Given the description of an element on the screen output the (x, y) to click on. 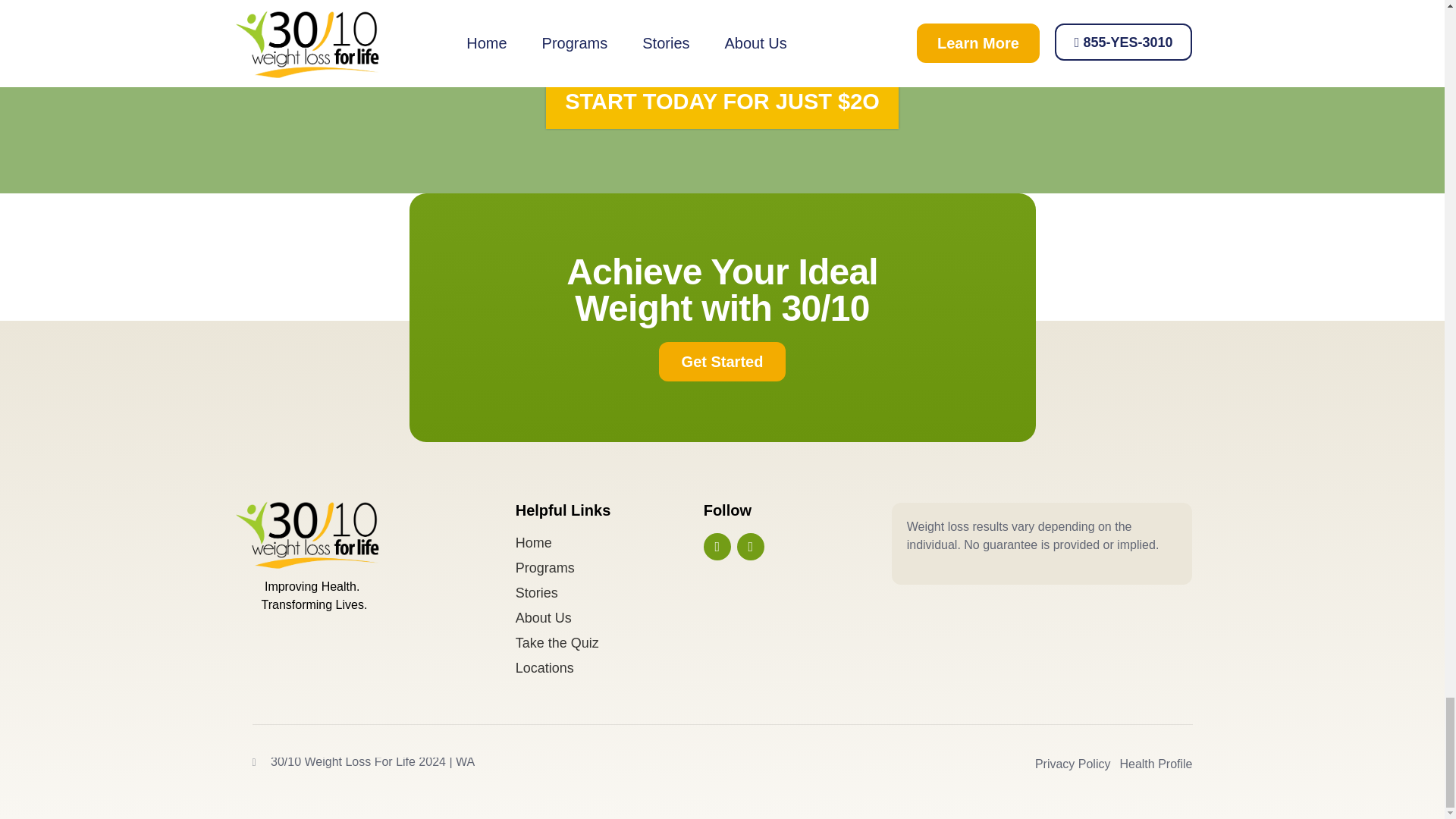
Stories (609, 593)
Home (609, 543)
Take the Quiz (609, 643)
Locations (609, 668)
Programs (609, 567)
Get Started (722, 361)
About Us (609, 618)
